Given the description of an element on the screen output the (x, y) to click on. 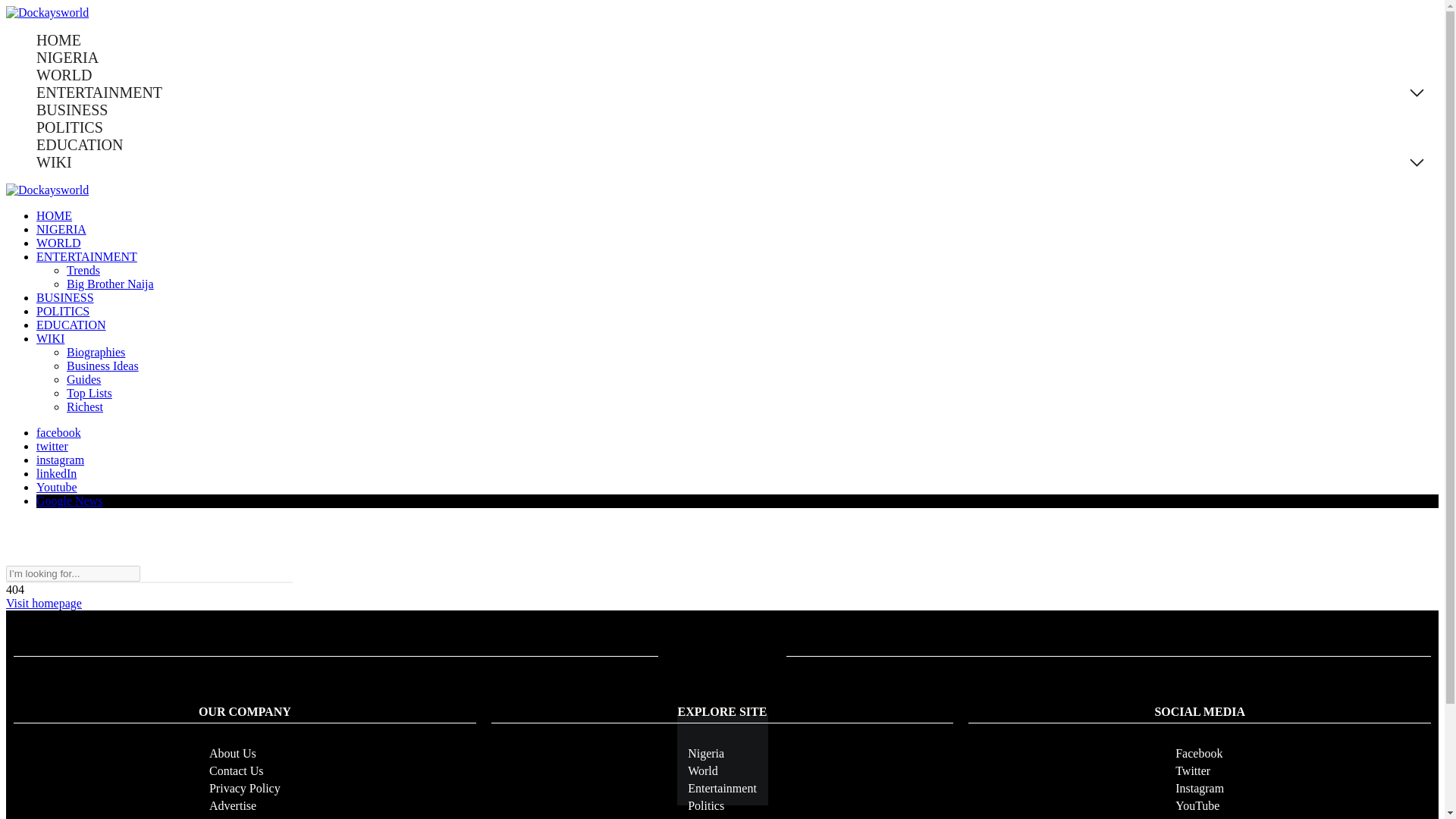
WORLD (63, 75)
ENTERTAINMENT (98, 92)
Trends (83, 269)
BUSINESS (71, 109)
WIKI (50, 338)
NIGERIA (60, 228)
NIGERIA (67, 57)
WIKI (53, 162)
HOME (58, 40)
BUSINESS (65, 297)
